Given the description of an element on the screen output the (x, y) to click on. 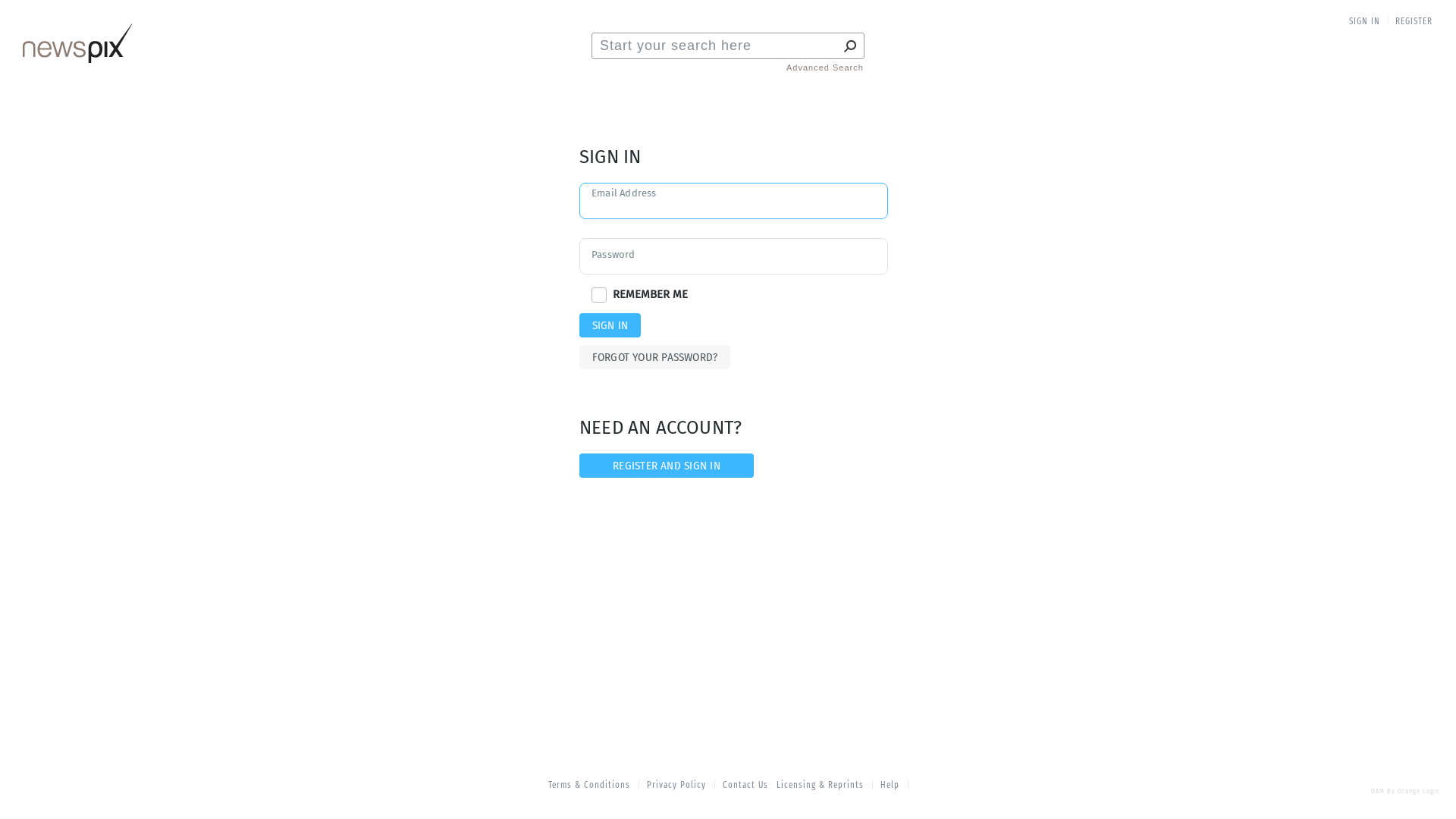
Terms & Conditions Element type: text (589, 784)
FORGOT YOUR PASSWORD? Element type: text (654, 357)
Advanced Search Element type: text (825, 67)
DAM By Orange Logic Element type: text (1405, 791)
SIGN IN Element type: text (1364, 21)
SIGN IN Element type: text (609, 325)
REGISTER AND SIGN IN Element type: text (666, 465)
Privacy Policy Element type: text (676, 784)
Contact Us Element type: text (745, 784)
REGISTER Element type: text (1414, 21)
Licensing & Reprints Element type: text (820, 784)
Help Element type: text (890, 784)
